Given the description of an element on the screen output the (x, y) to click on. 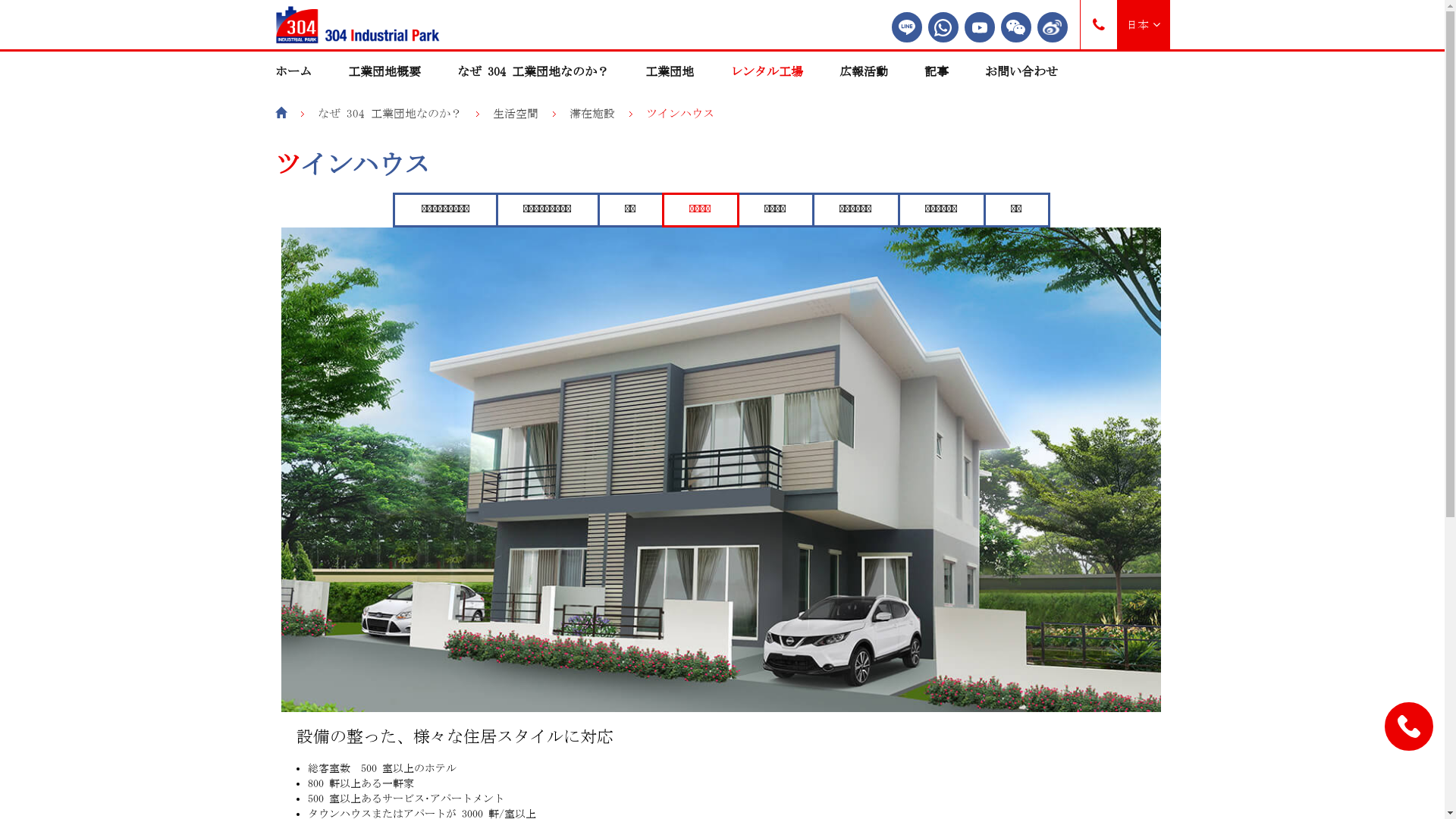
HOME Element type: hover (279, 113)
